Given the description of an element on the screen output the (x, y) to click on. 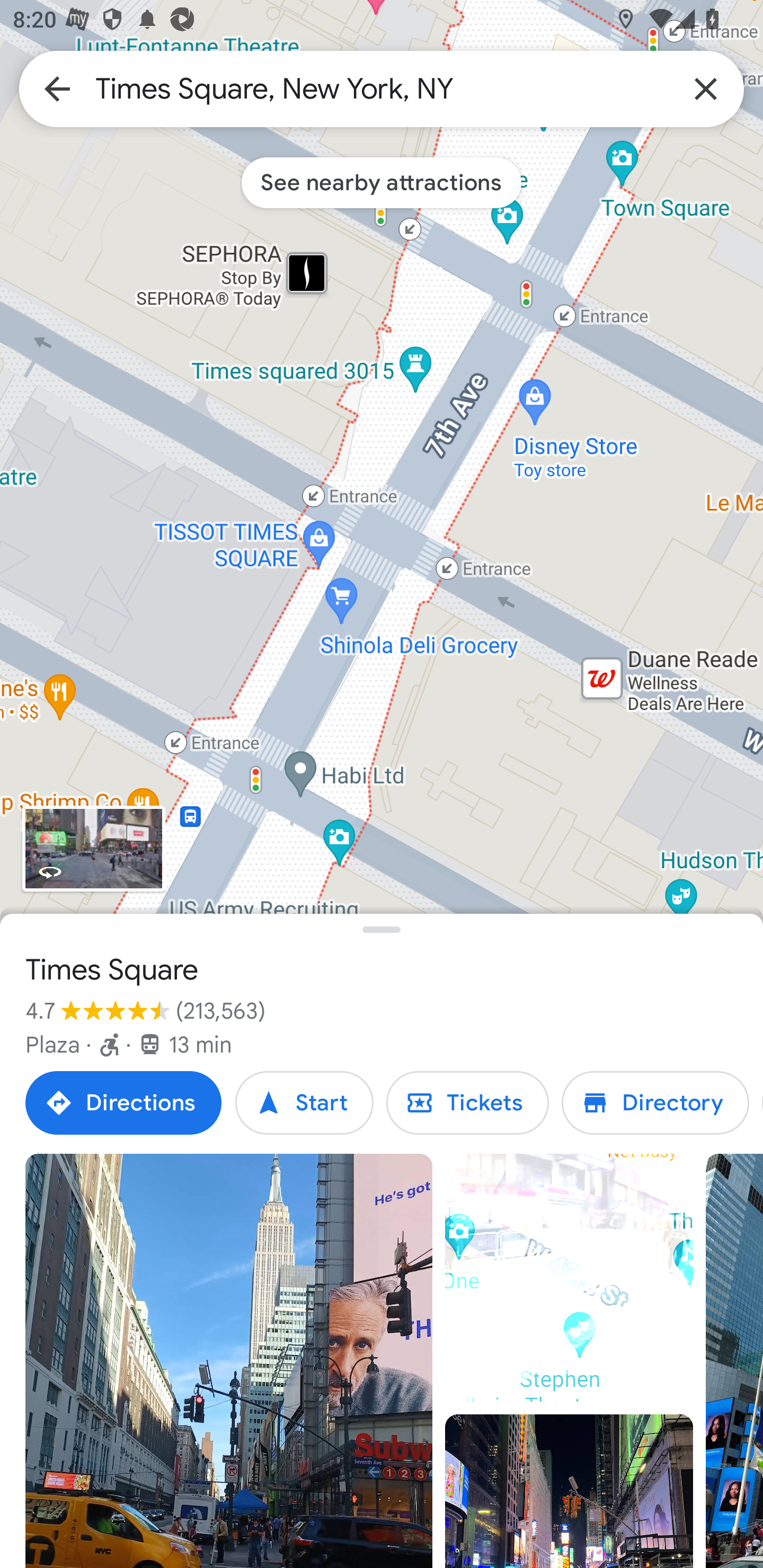
Back (57, 88)
Times Square, New York, NY (381, 88)
Clear (705, 88)
See nearby attractions (381, 182)
View Street view imagery for Times Square (93, 848)
Start Start Start (304, 1102)
Tickets (467, 1102)
Directory Directory Directory (655, 1102)
Photo (228, 1361)
Video (568, 1277)
Photo (568, 1491)
